Given the description of an element on the screen output the (x, y) to click on. 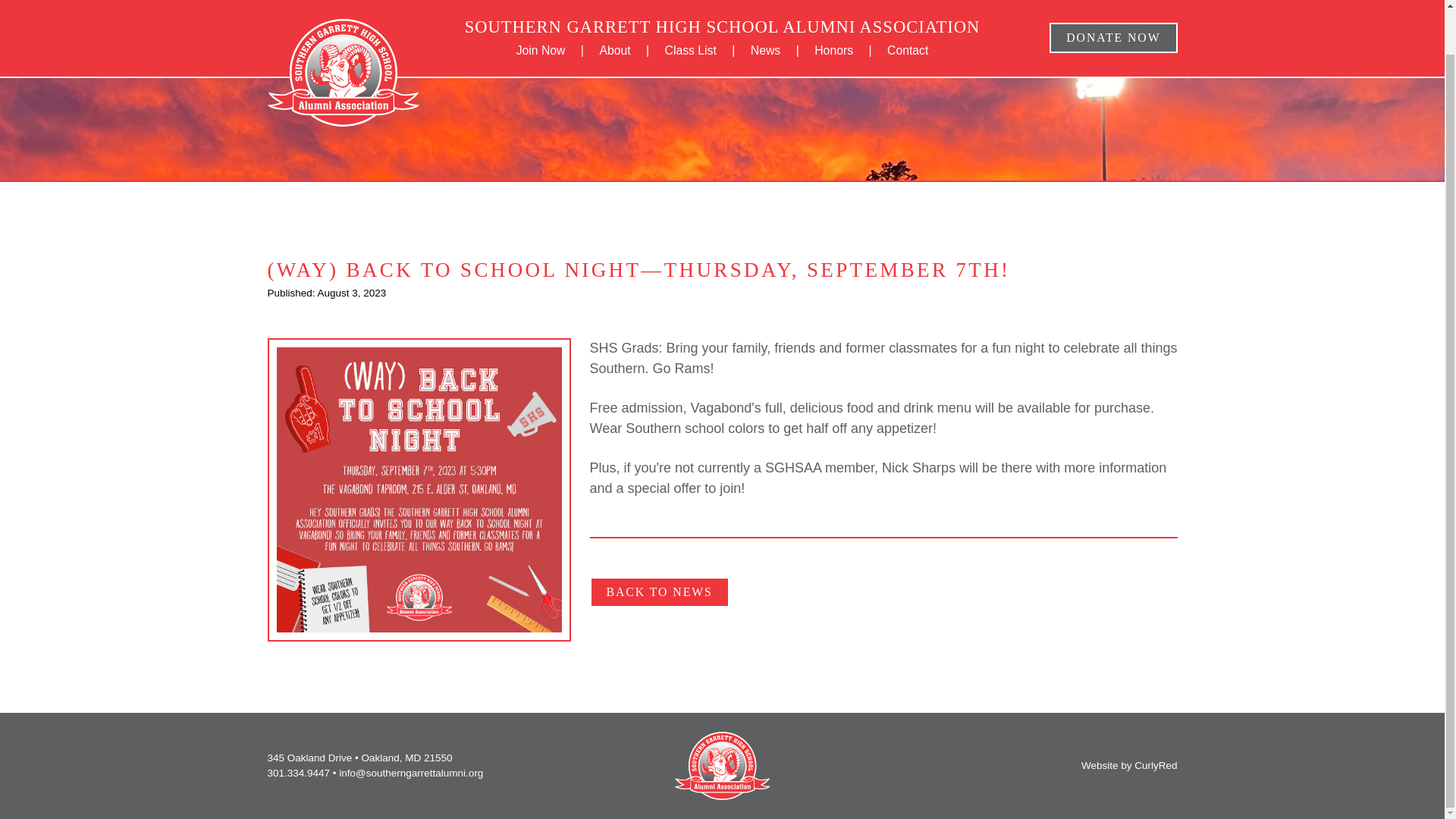
News (765, 5)
Class List (690, 5)
Contact (907, 5)
Join Now (541, 5)
Website by CurlyRed (1129, 765)
BACK TO NEWS (659, 590)
About (614, 5)
Honors (833, 5)
301.334.9447 (298, 772)
